Given the description of an element on the screen output the (x, y) to click on. 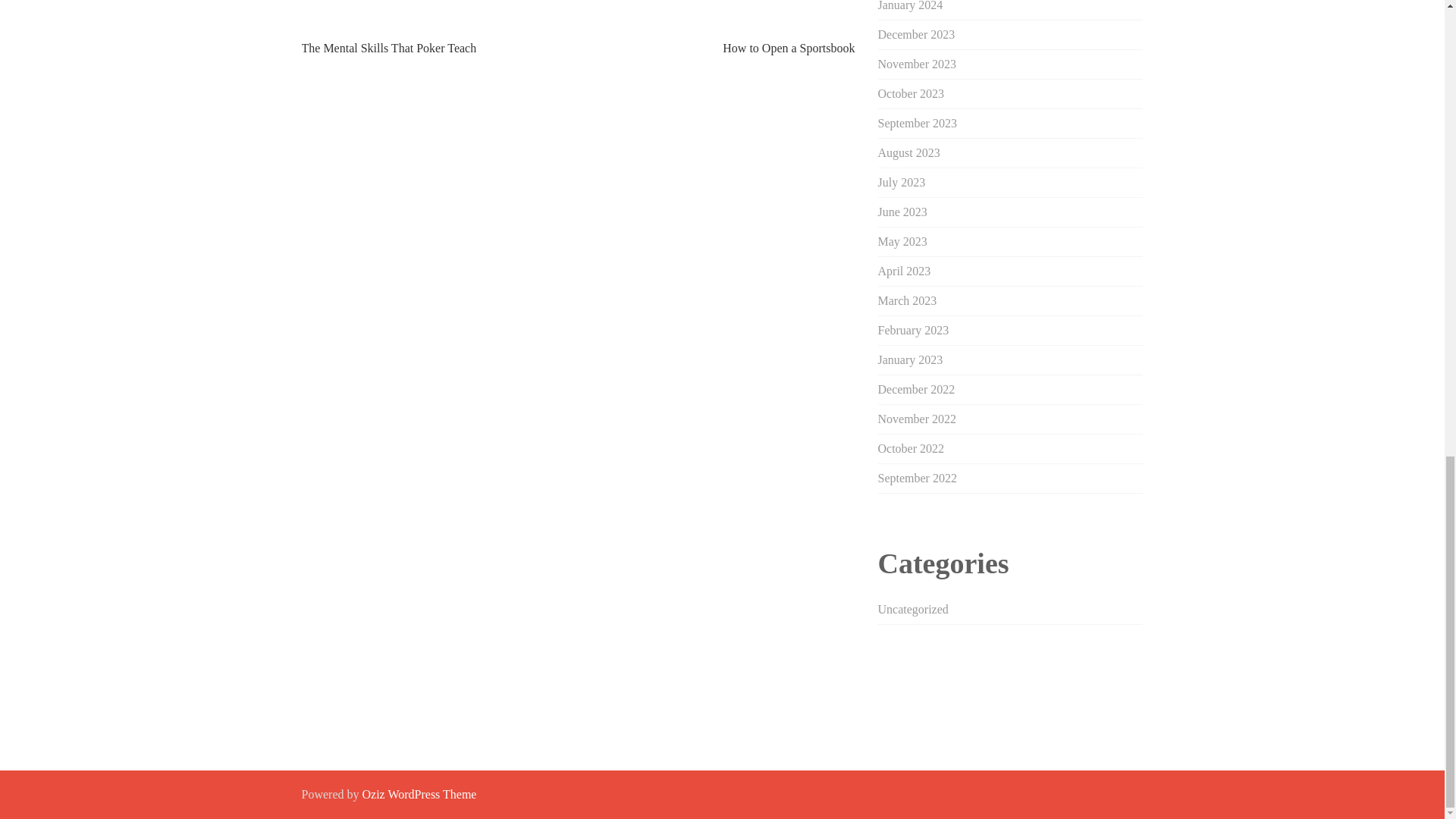
The Mental Skills That Poker Teach (389, 47)
September 2023 (916, 123)
January 2024 (910, 5)
October 2023 (910, 92)
March 2023 (907, 300)
April 2023 (904, 270)
June 2023 (902, 211)
August 2023 (908, 152)
February 2023 (913, 329)
July 2023 (901, 182)
December 2023 (916, 33)
May 2023 (902, 241)
How to Open a Sportsbook (788, 47)
November 2023 (916, 63)
